Given the description of an element on the screen output the (x, y) to click on. 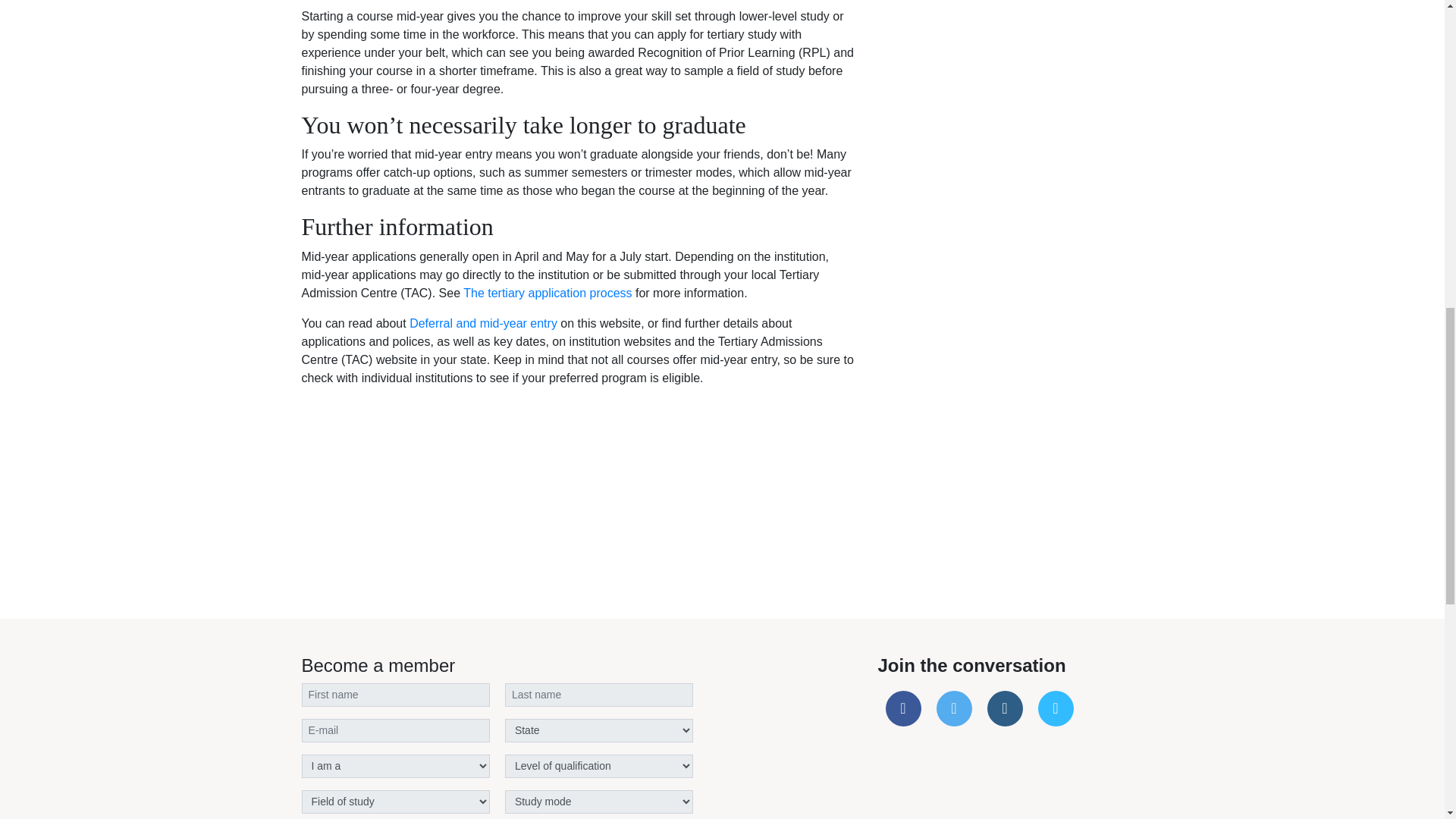
Deferral and mid-year entry (483, 323)
The tertiary application process (547, 292)
